Given the description of an element on the screen output the (x, y) to click on. 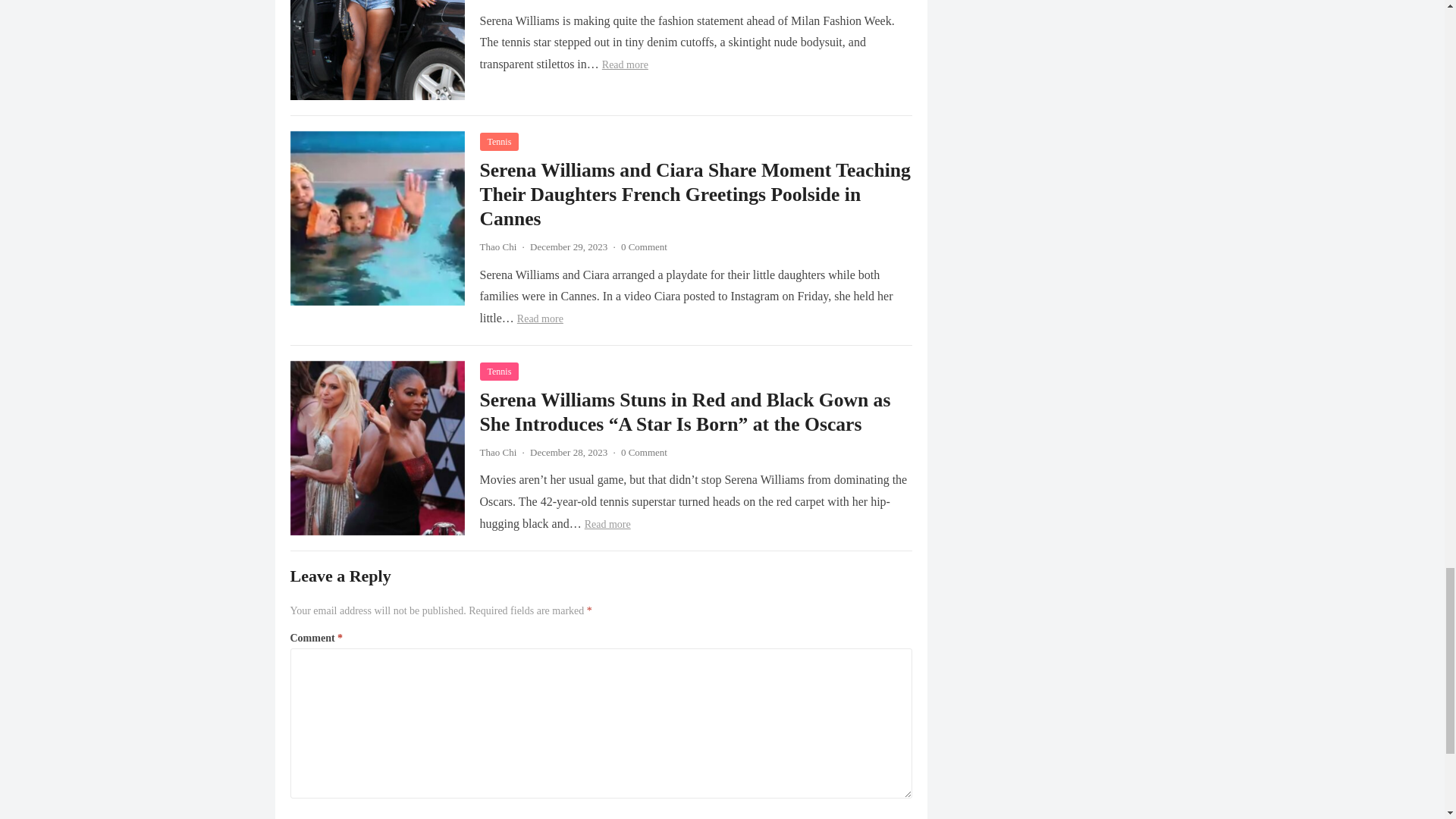
Posts by Thao Chi (497, 451)
Posts by Thao Chi (497, 246)
